Given the description of an element on the screen output the (x, y) to click on. 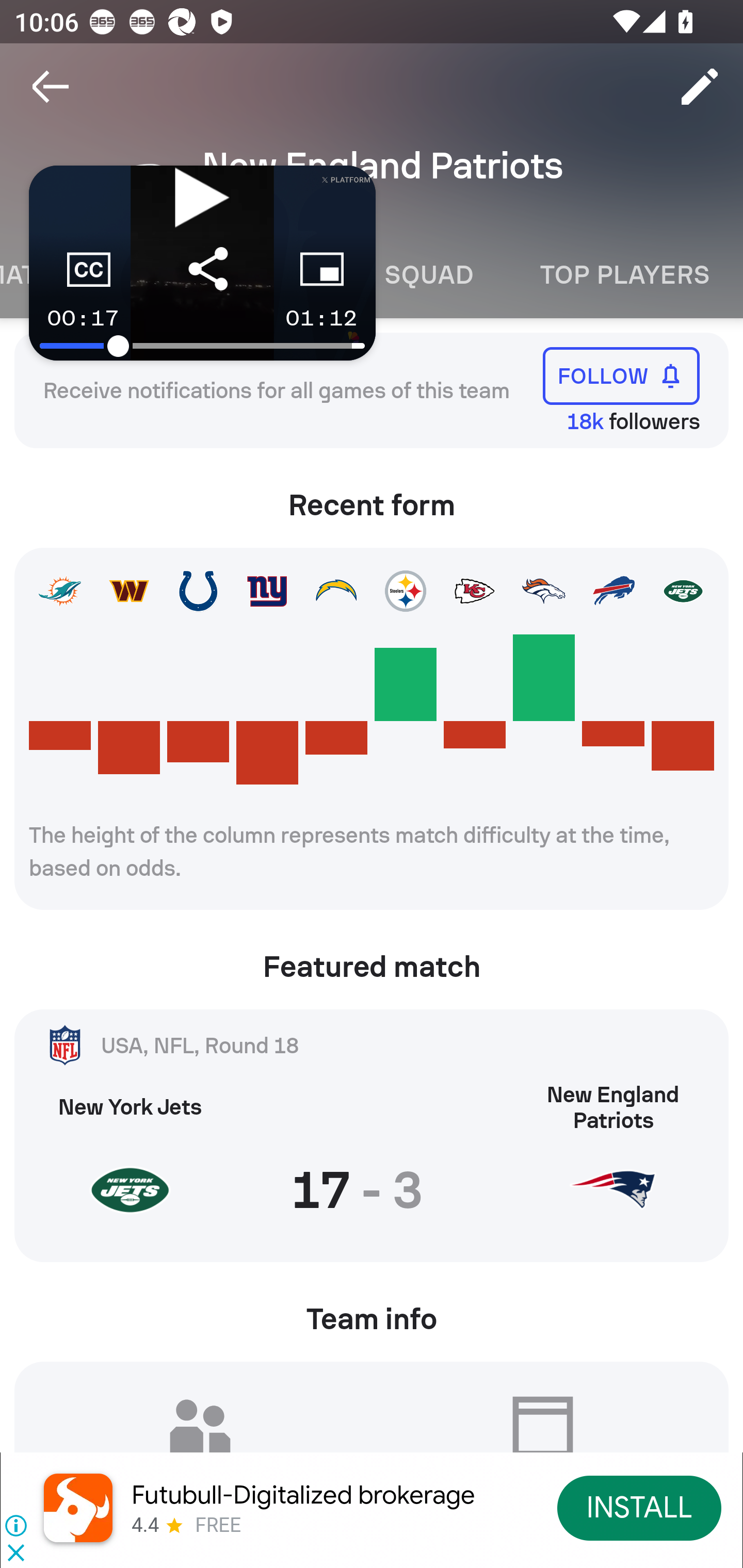
Navigate up (50, 86)
Edit (699, 86)
Squad SQUAD (429, 275)
Top players TOP PLAYERS (625, 275)
FOLLOW (621, 375)
INSTALL (639, 1507)
Futubull-Digitalized brokerage (302, 1494)
